Given the description of an element on the screen output the (x, y) to click on. 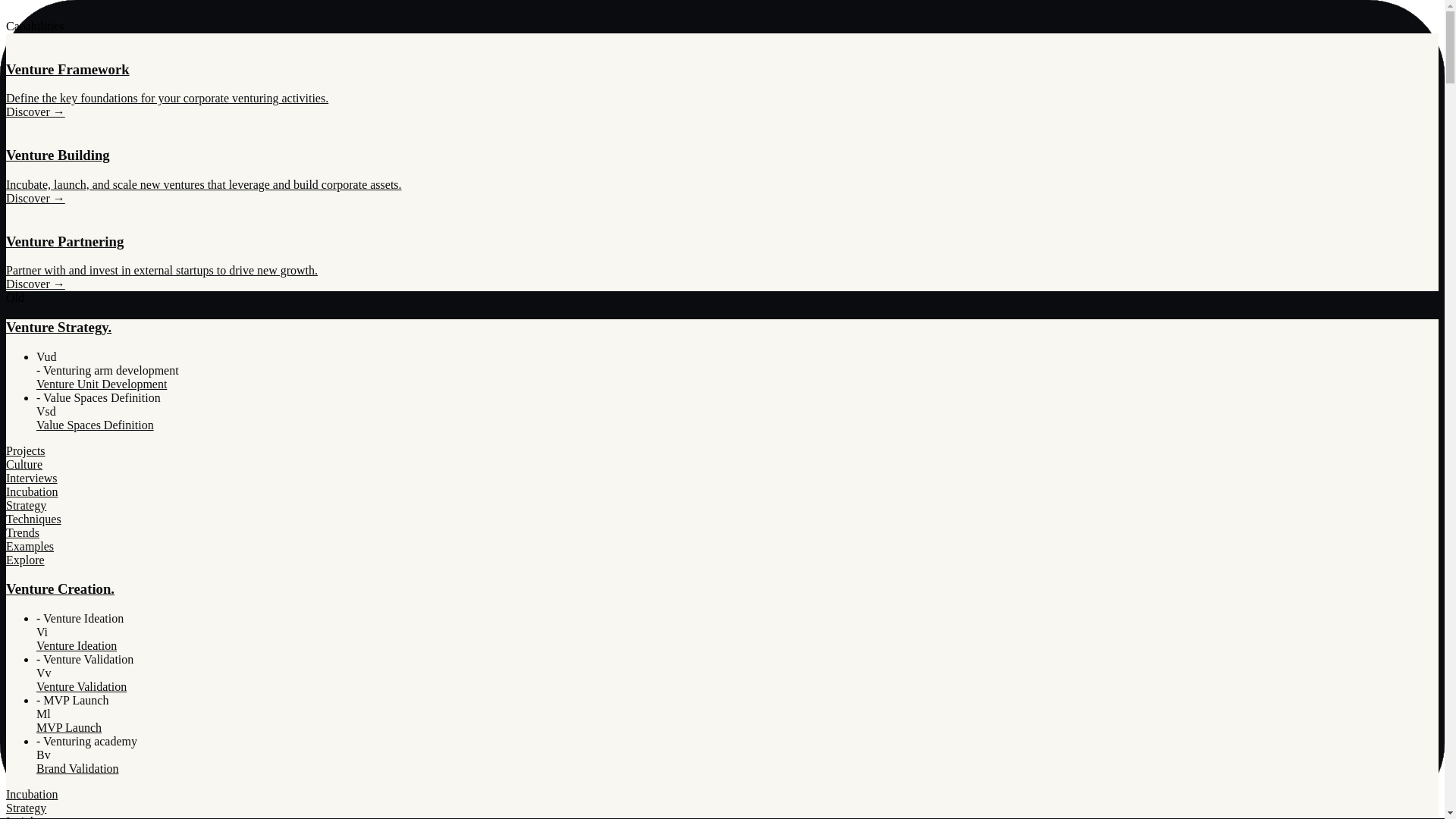
Venture Ideation Element type: text (76, 645)
Incubation Element type: text (722, 794)
Brand Validation Element type: text (77, 768)
Venture Strategy. Element type: text (722, 327)
Strategy Element type: text (722, 505)
Examples Element type: text (722, 546)
Explore Element type: text (722, 560)
Techniques Element type: text (722, 519)
Interviews Element type: text (722, 478)
Culture Element type: text (722, 464)
Venture Unit Development Element type: text (101, 383)
Incubation Element type: text (722, 491)
Venture Creation. Element type: text (722, 588)
Projects Element type: text (722, 451)
Value Spaces Definition Element type: text (94, 424)
Trends Element type: text (722, 532)
MVP Launch Element type: text (68, 727)
Strategy Element type: text (722, 808)
Venture Validation Element type: text (81, 686)
